Given the description of an element on the screen output the (x, y) to click on. 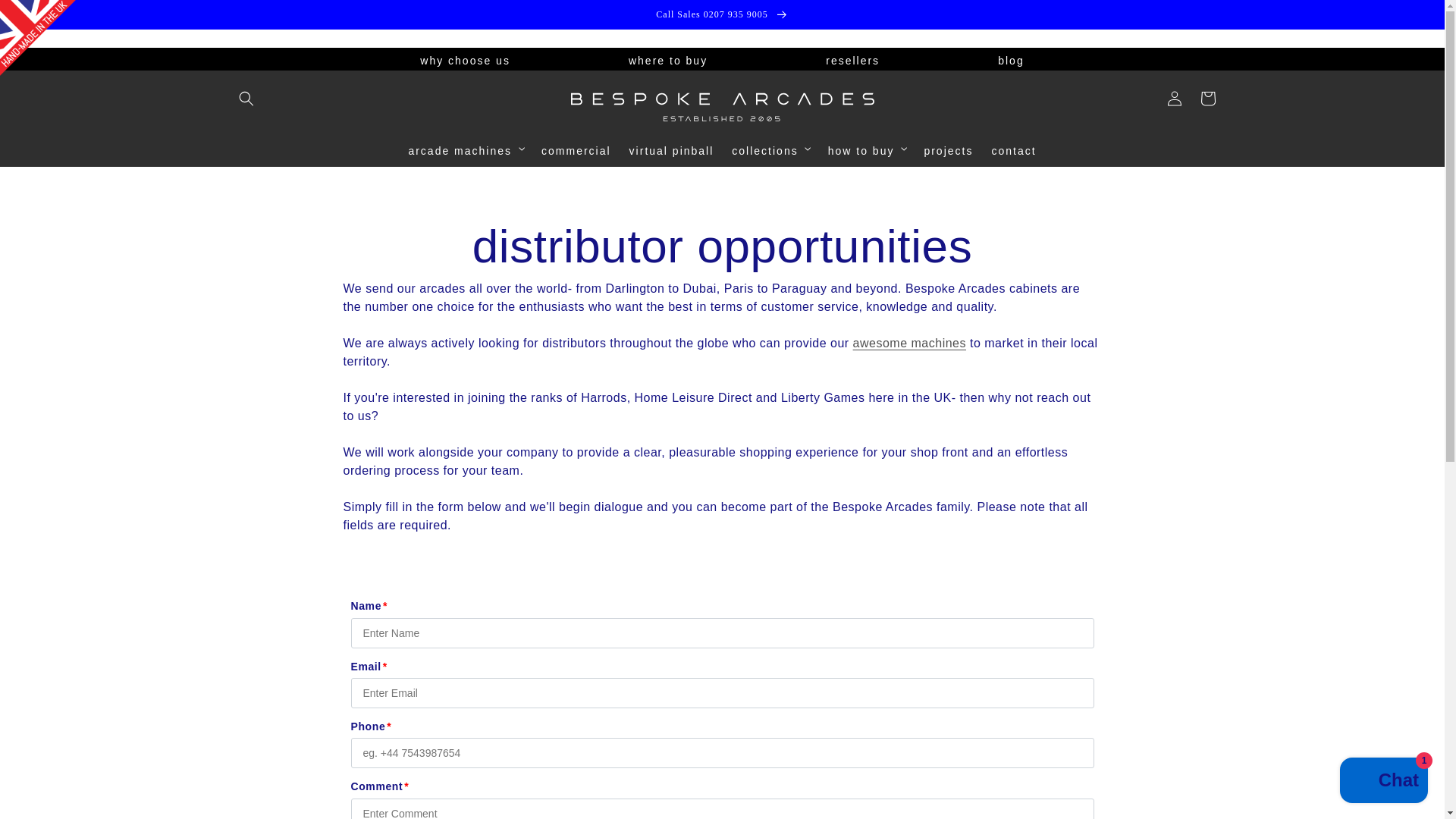
resellers (852, 60)
why choose us (465, 60)
Shopify online store chat (1383, 781)
Skip to content (46, 18)
blog (1010, 60)
where to buy (667, 60)
